Given the description of an element on the screen output the (x, y) to click on. 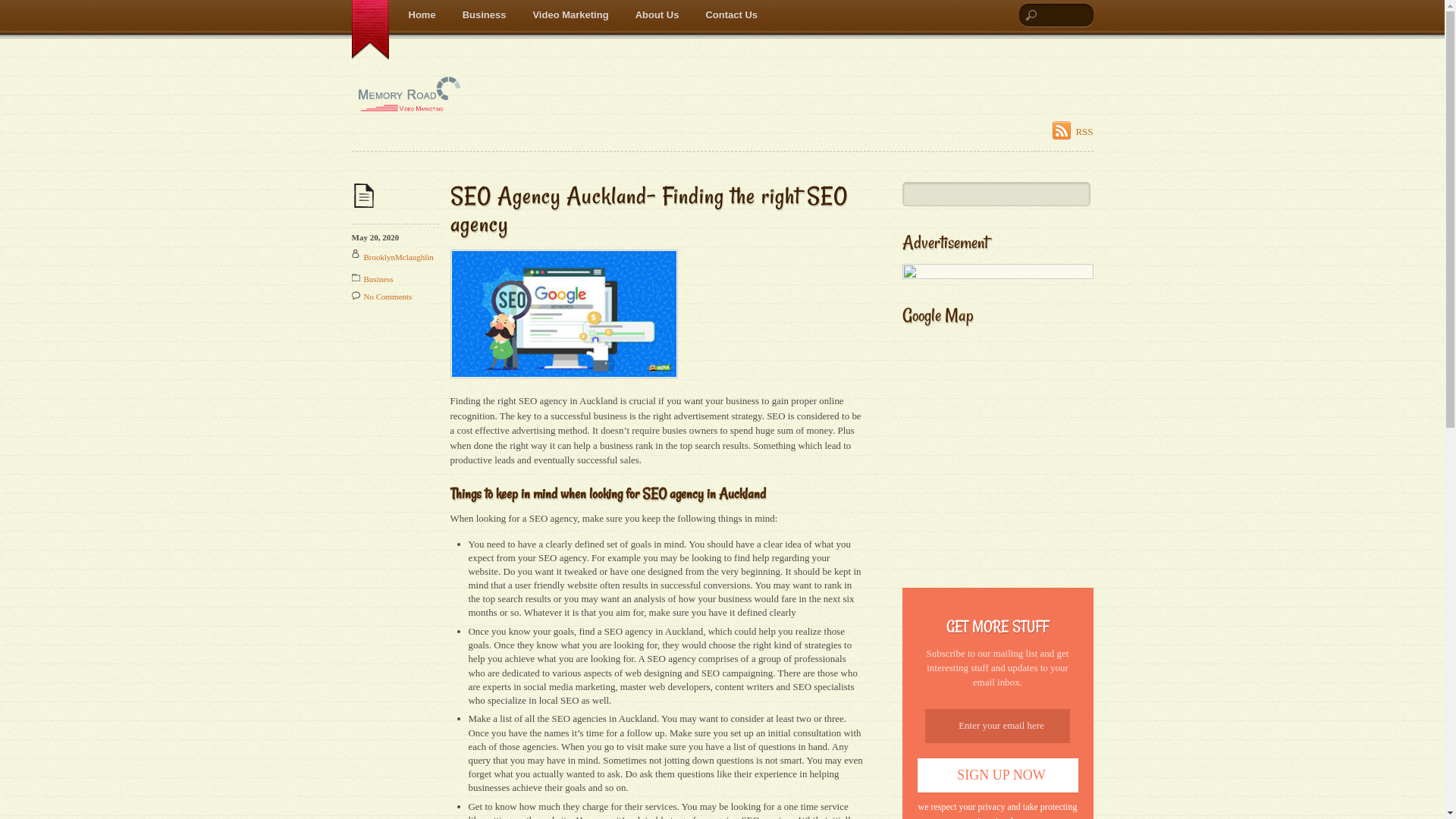
Search Element type: hover (1056, 14)
Memory Road Element type: hover (408, 94)
Contact Us Element type: text (730, 14)
RSS Element type: text (1072, 130)
Memory Road Element type: hover (408, 103)
Sign Up Now Element type: text (997, 775)
Home Element type: text (422, 14)
No Comments Element type: text (388, 296)
SEO Agency Auckland- Finding the right SEO agency Element type: text (648, 209)
Search Element type: hover (996, 194)
Business Element type: text (378, 278)
BrooklynMclaughlin Element type: text (398, 256)
Business Element type: text (484, 14)
Video Marketing Element type: text (569, 14)
About Us Element type: text (657, 14)
